Given the description of an element on the screen output the (x, y) to click on. 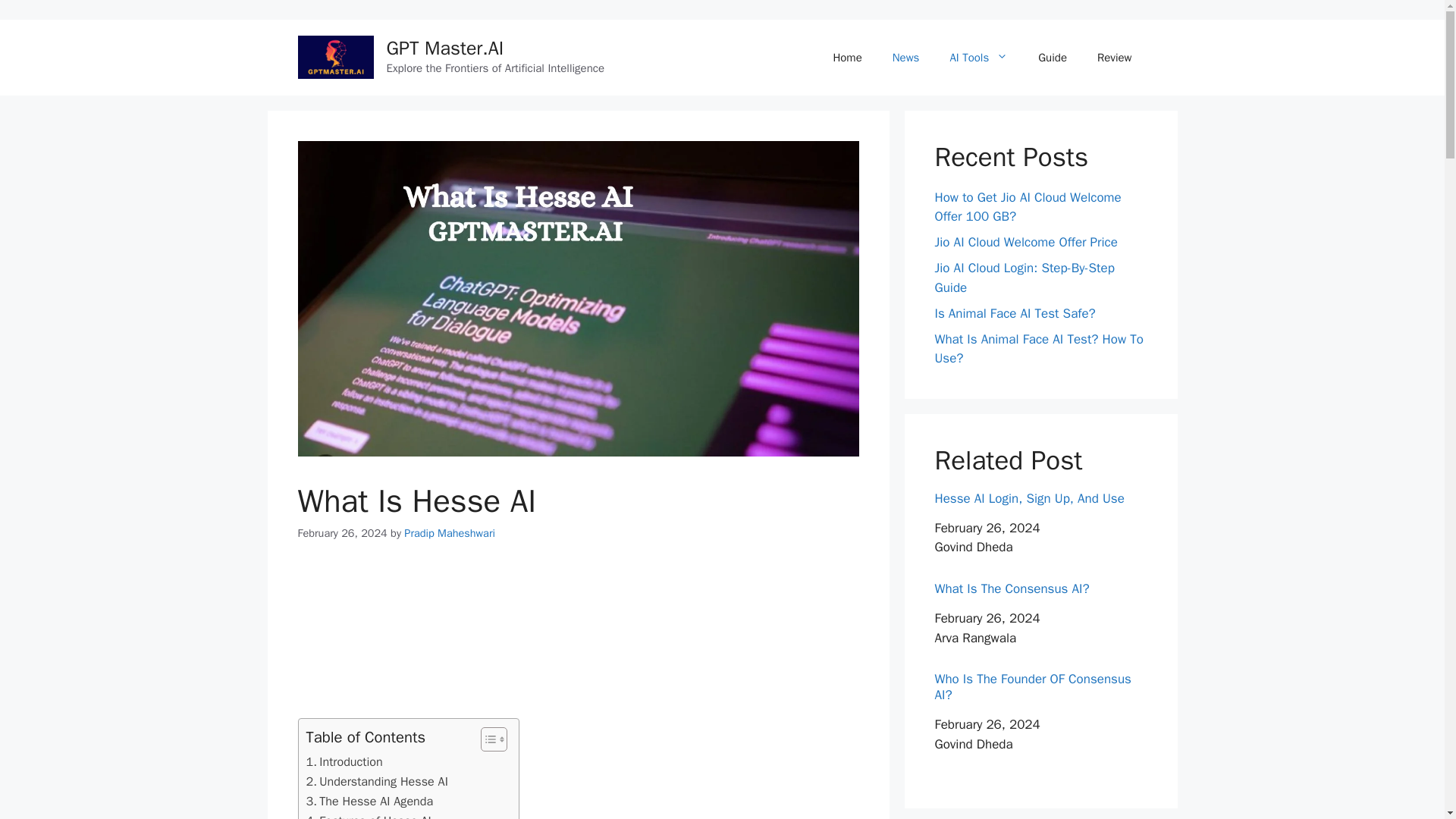
The Hesse AI Agenda (369, 801)
GPT Master.AI (445, 47)
Pradip Maheshwari (449, 532)
Review (1114, 57)
AI Tools (978, 57)
View all posts by Pradip Maheshwari (449, 532)
Home (846, 57)
News (905, 57)
Introduction (343, 762)
Guide (1052, 57)
